Given the description of an element on the screen output the (x, y) to click on. 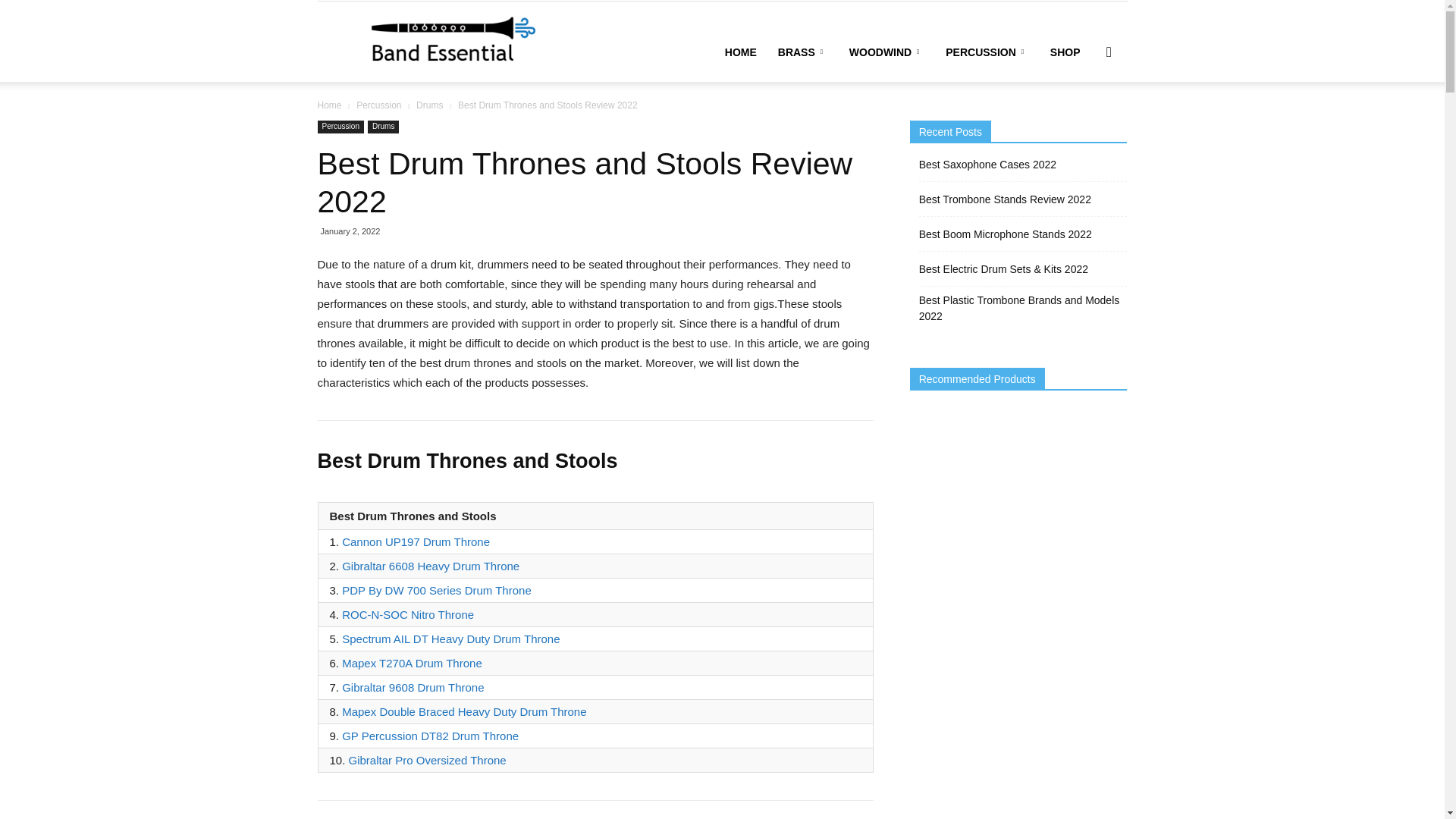
WOODWIND (886, 51)
View all posts in Percussion (378, 104)
Search (1085, 124)
BRASS (802, 51)
View all posts in Drums (429, 104)
HOME (740, 51)
Band Essential (433, 41)
